Given the description of an element on the screen output the (x, y) to click on. 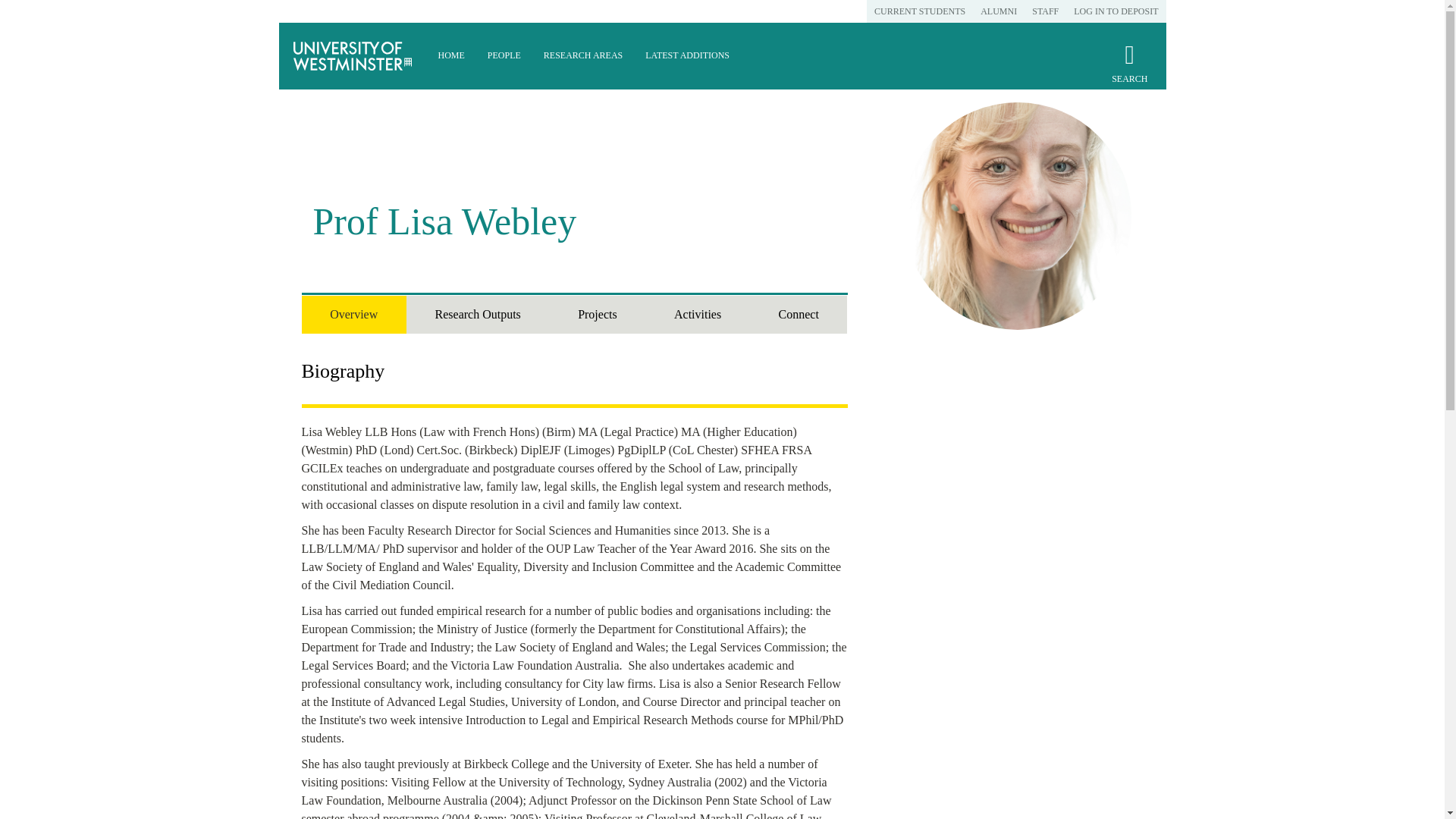
ALUMNI (998, 11)
Activities (697, 314)
Connect (798, 314)
Overview (353, 314)
Research Outputs (478, 314)
LATEST ADDITIONS (687, 55)
STAFF (1045, 11)
SEARCH (1129, 69)
Projects (596, 314)
University of Westminster (352, 55)
